Given the description of an element on the screen output the (x, y) to click on. 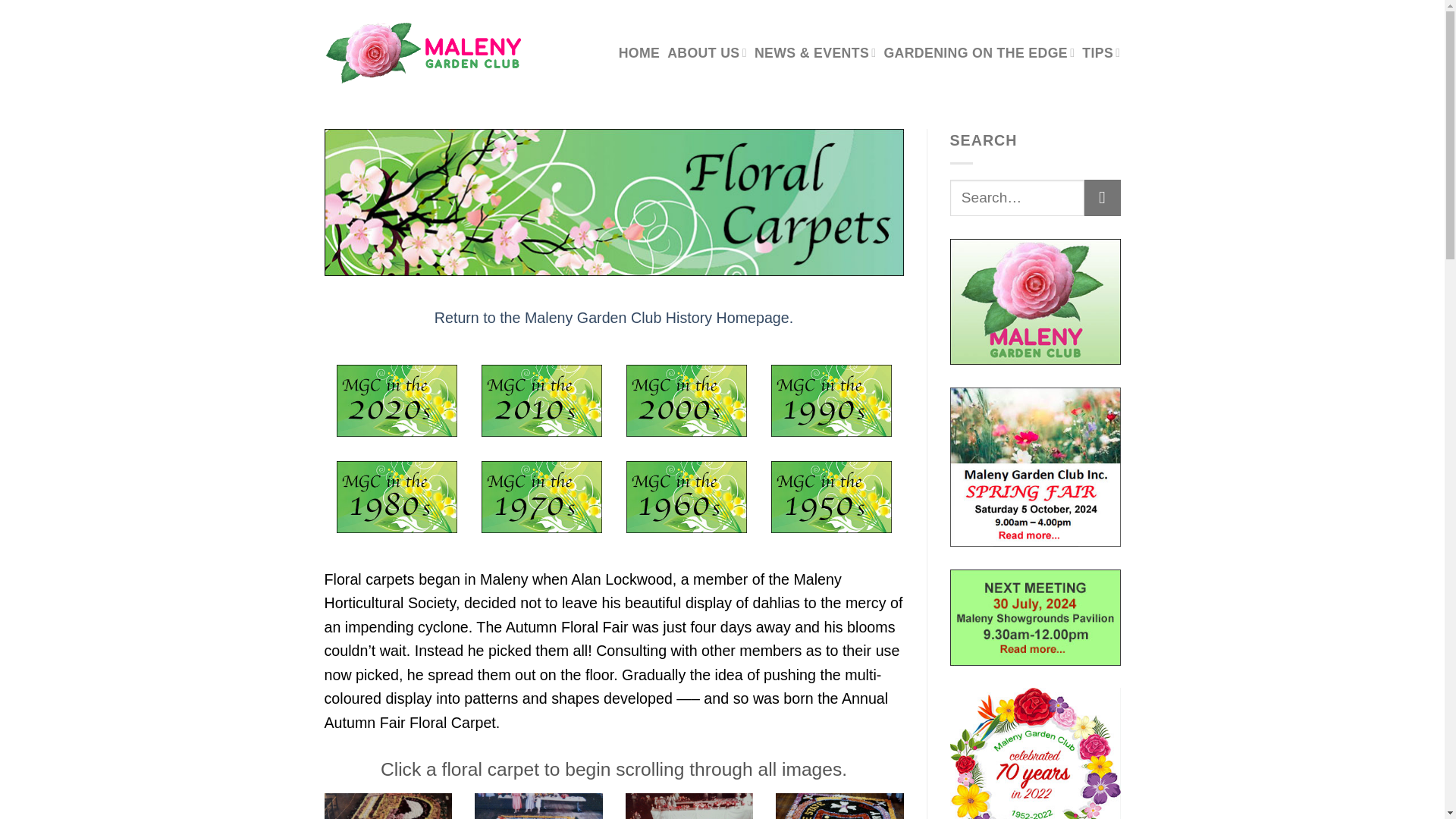
ABOUT US (706, 52)
1957 (538, 806)
GARDENING ON THE EDGE (978, 52)
1958 (688, 806)
1959 (840, 806)
1955 (388, 806)
